Given the description of an element on the screen output the (x, y) to click on. 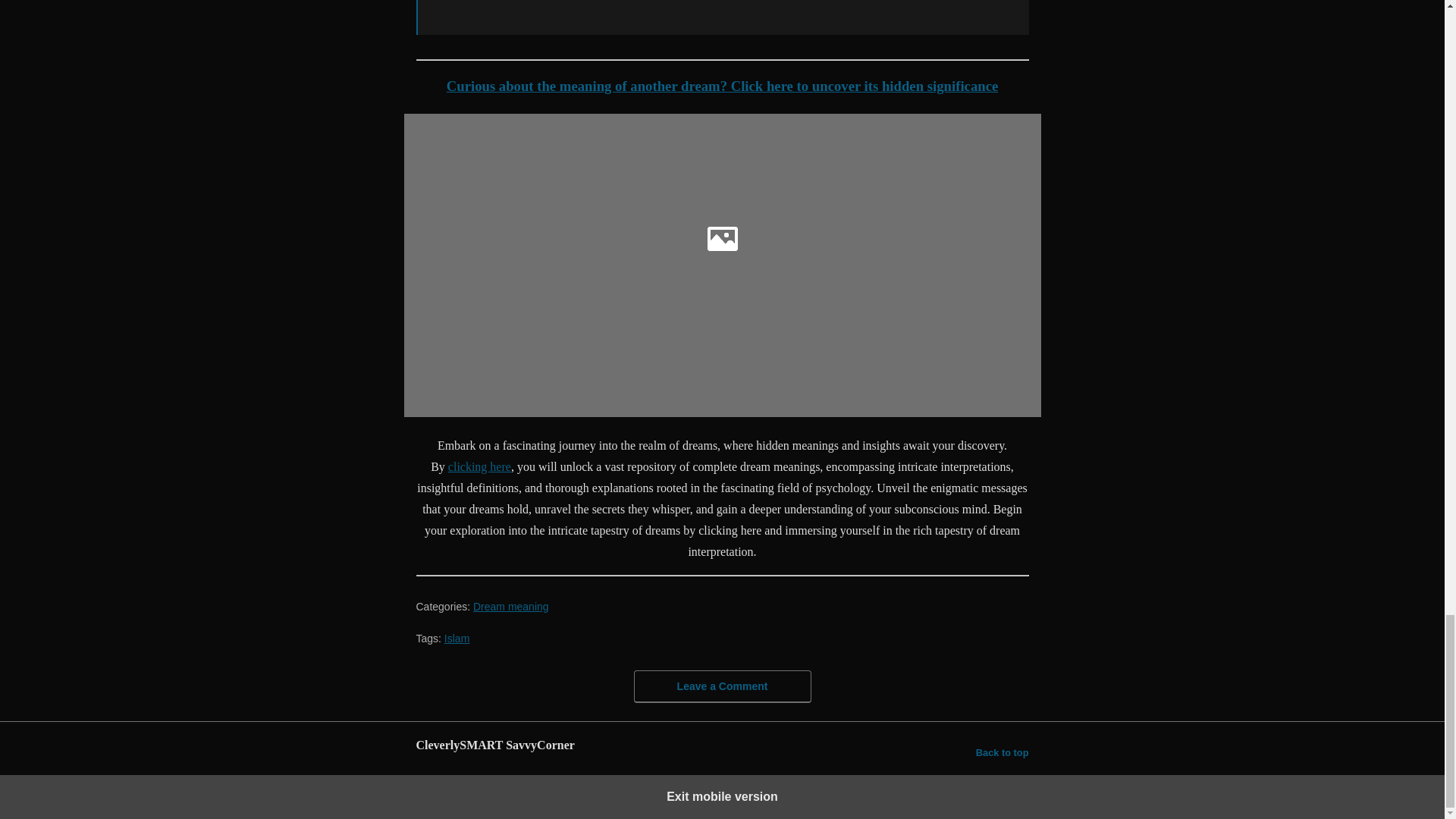
Dream meaning (510, 606)
Back to top (1002, 752)
clicking here (479, 466)
Leave a Comment (721, 686)
Islam (456, 638)
